Given the description of an element on the screen output the (x, y) to click on. 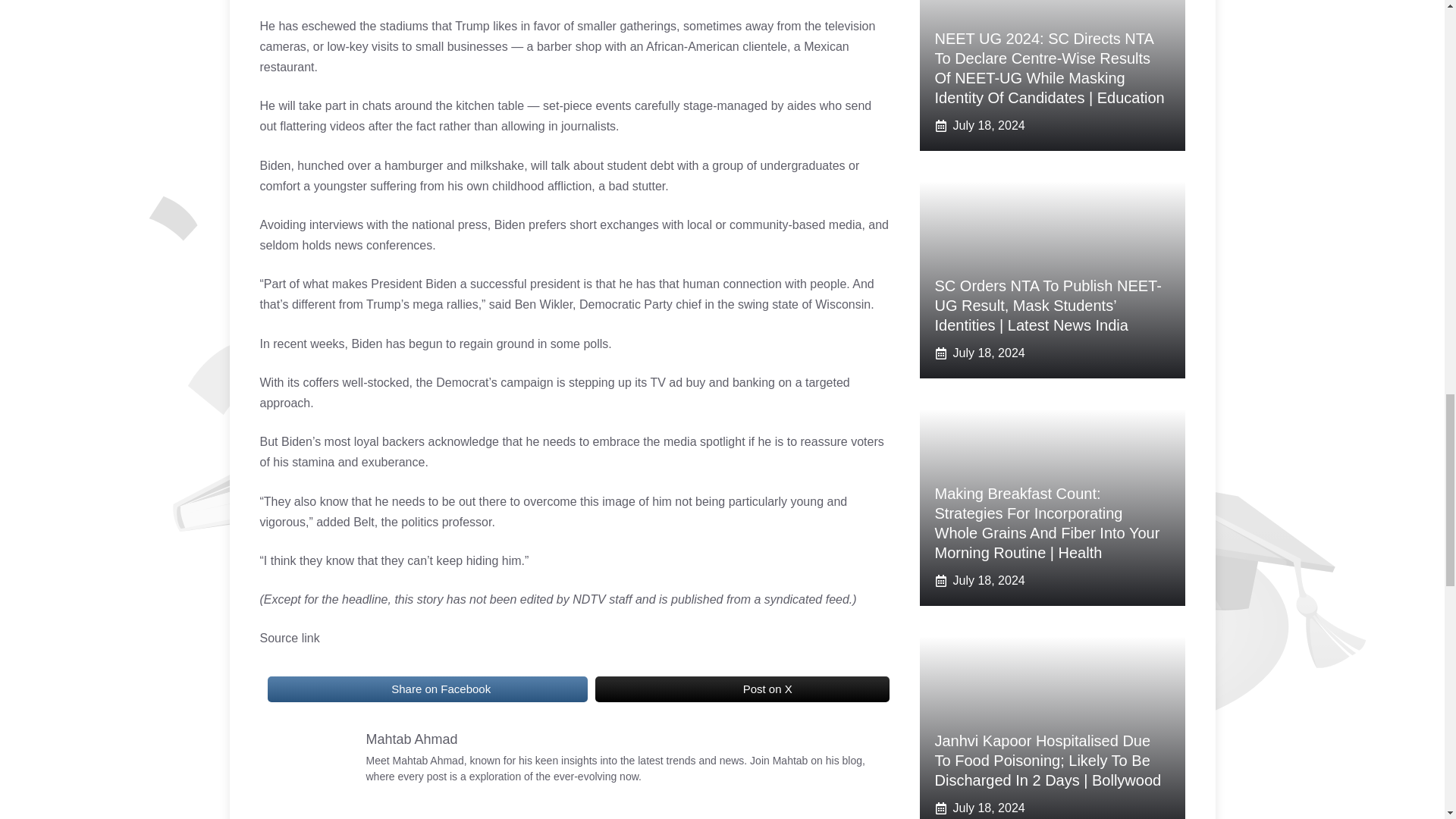
Mahtab Ahmad (411, 738)
Source link (288, 637)
The Unique Campaigns For 2024 US Elections (374, 688)
Share on Facebook (426, 688)
Post on X (742, 688)
The Unique Campaigns For 2024 US Elections (312, 767)
The Unique Campaigns For 2024 US Elections (714, 688)
